Given the description of an element on the screen output the (x, y) to click on. 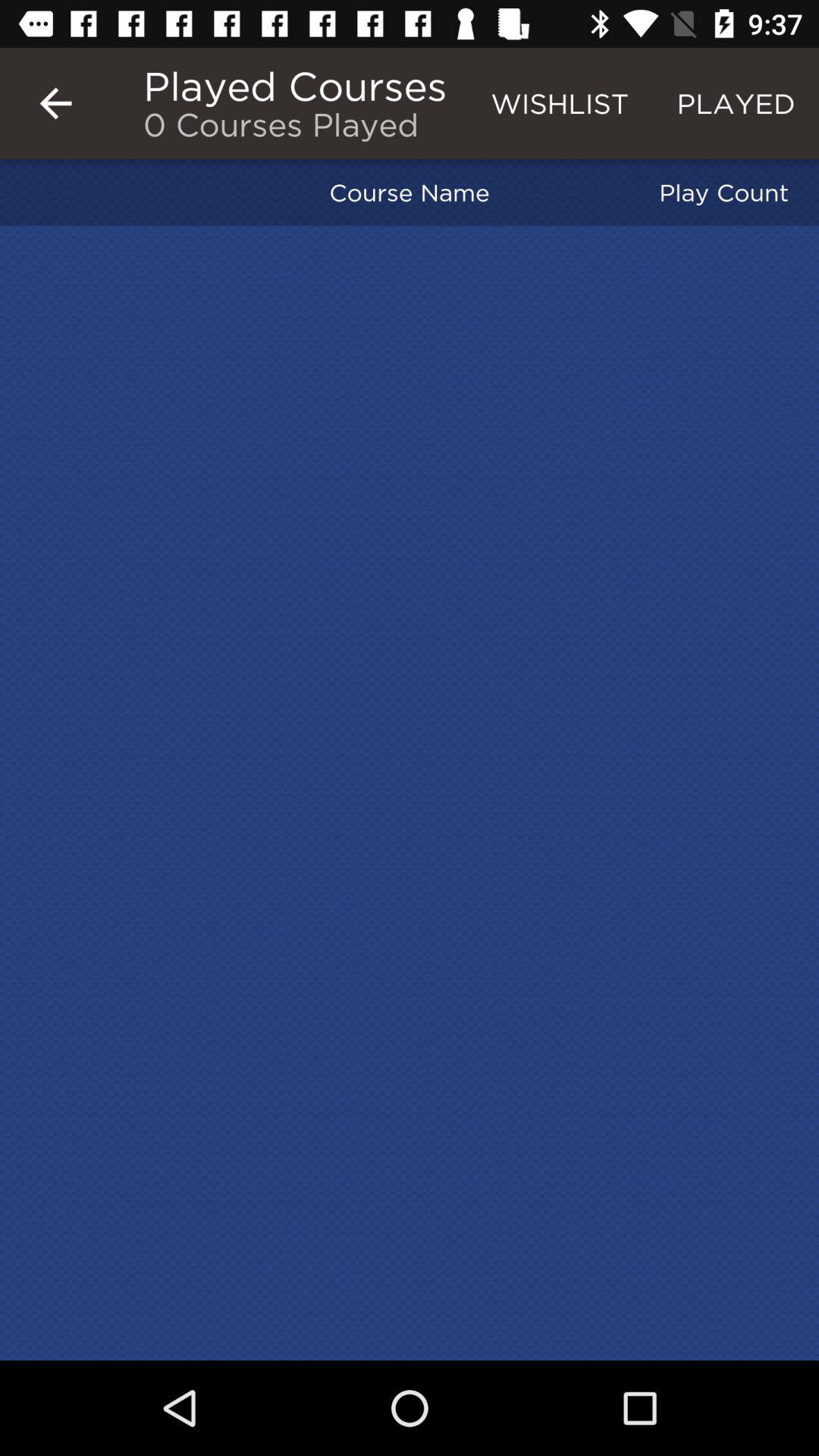
click icon to the left of played item (559, 103)
